Given the description of an element on the screen output the (x, y) to click on. 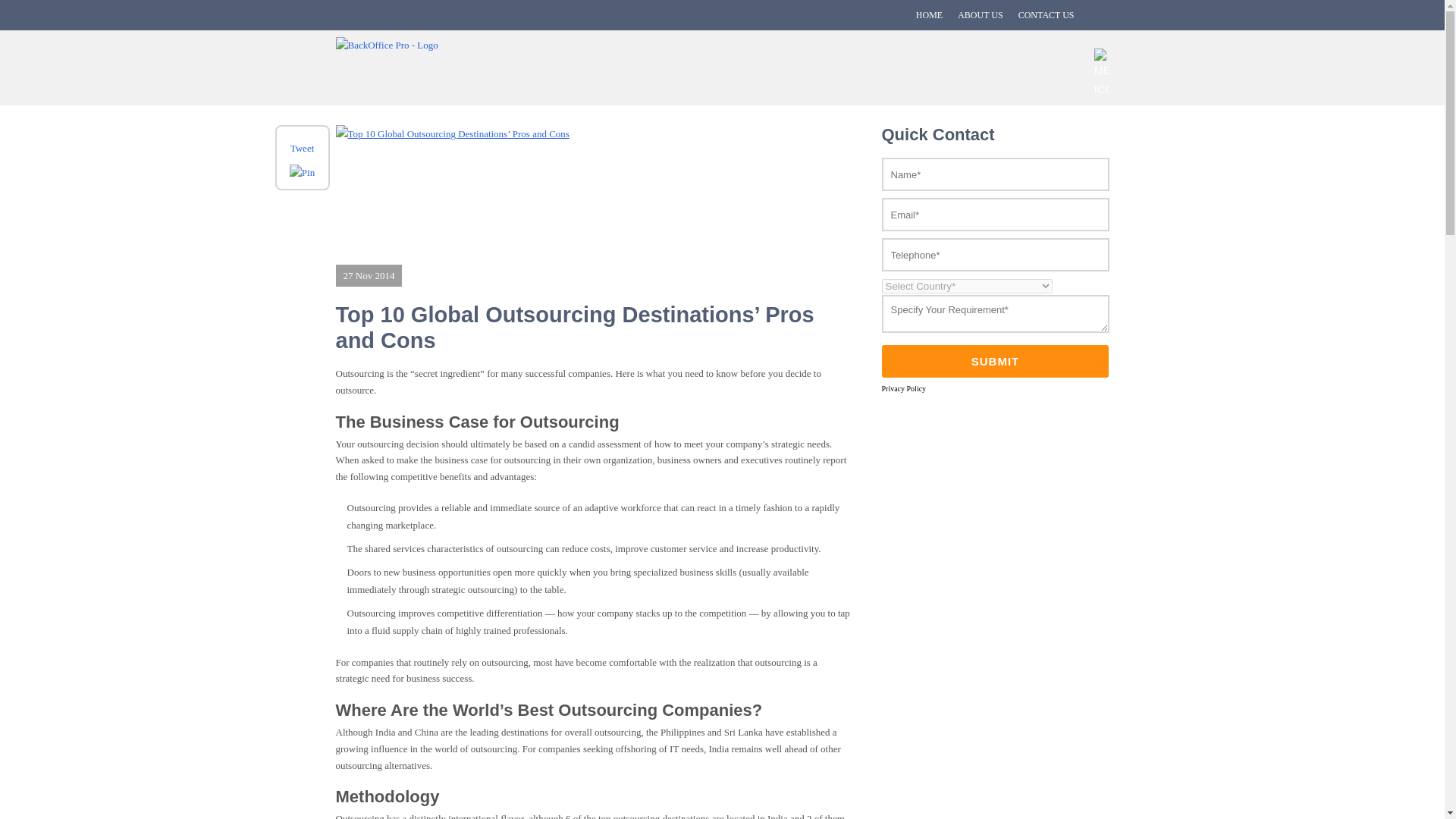
CONTACT US (1045, 14)
Privacy Policy (903, 388)
Submit (995, 360)
ABOUT US (980, 14)
Tweet (301, 147)
Submit (995, 360)
HOME (928, 14)
